Given the description of an element on the screen output the (x, y) to click on. 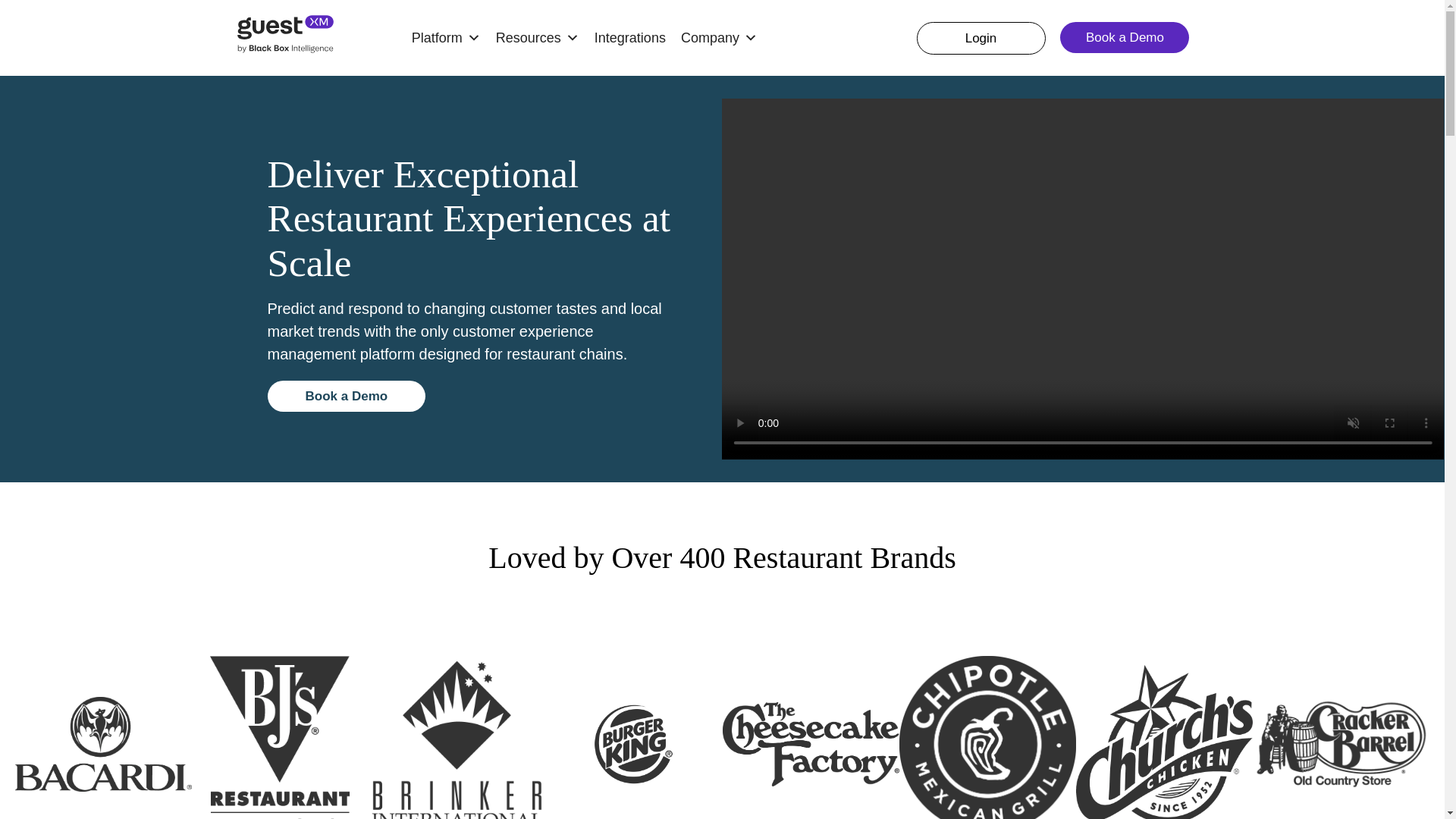
Platform (445, 37)
Resources (536, 37)
